Given the description of an element on the screen output the (x, y) to click on. 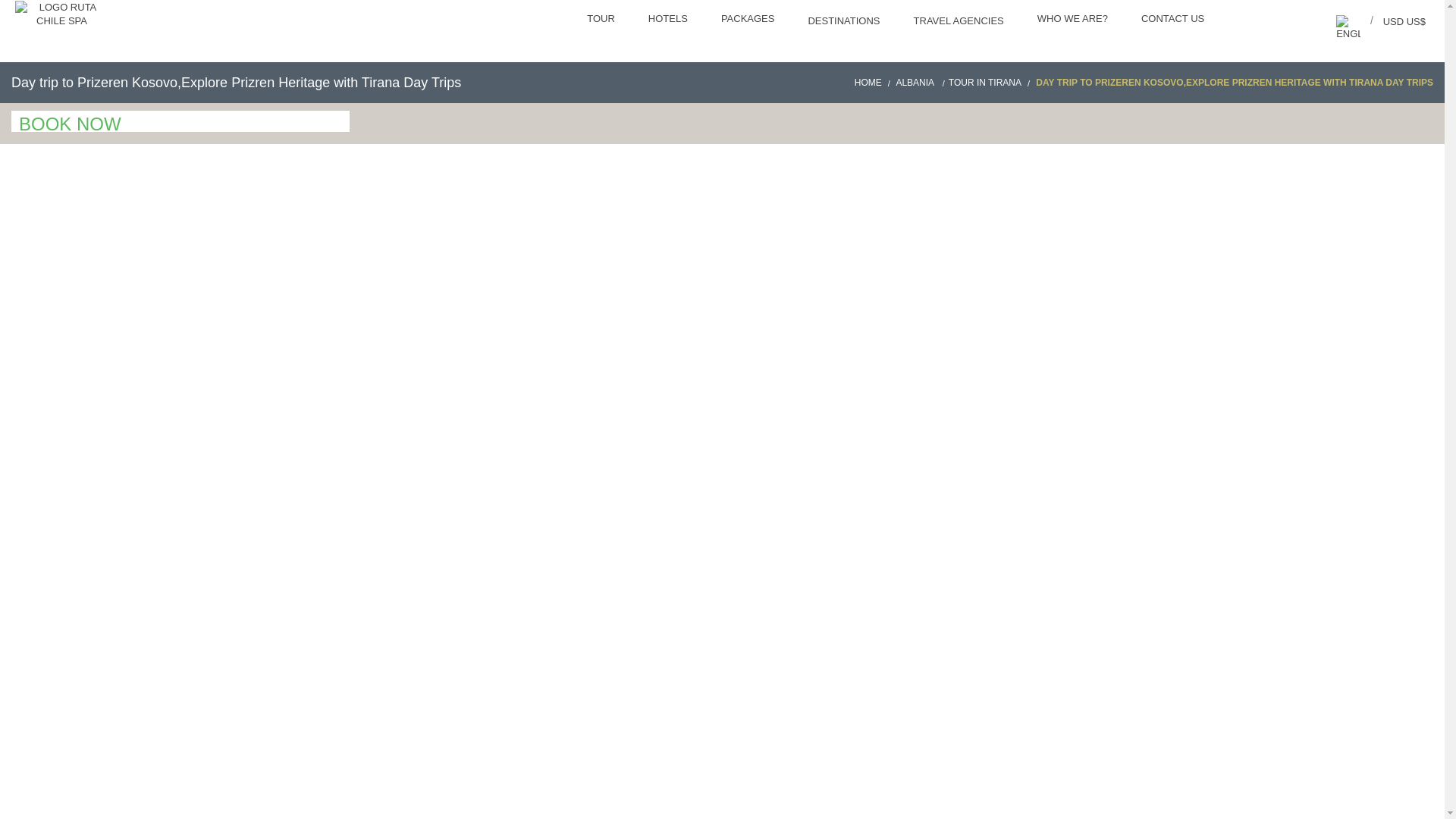
TOUR IN TIRANA (991, 81)
TOUR (602, 20)
WHO WE ARE? (1073, 20)
DESTINATIONS (845, 22)
PACKAGES (749, 20)
CONTACT US (1174, 20)
ALBANIA (921, 81)
HOME (873, 81)
TRAVEL AGENCIES (960, 22)
HOTELS (669, 20)
